Given the description of an element on the screen output the (x, y) to click on. 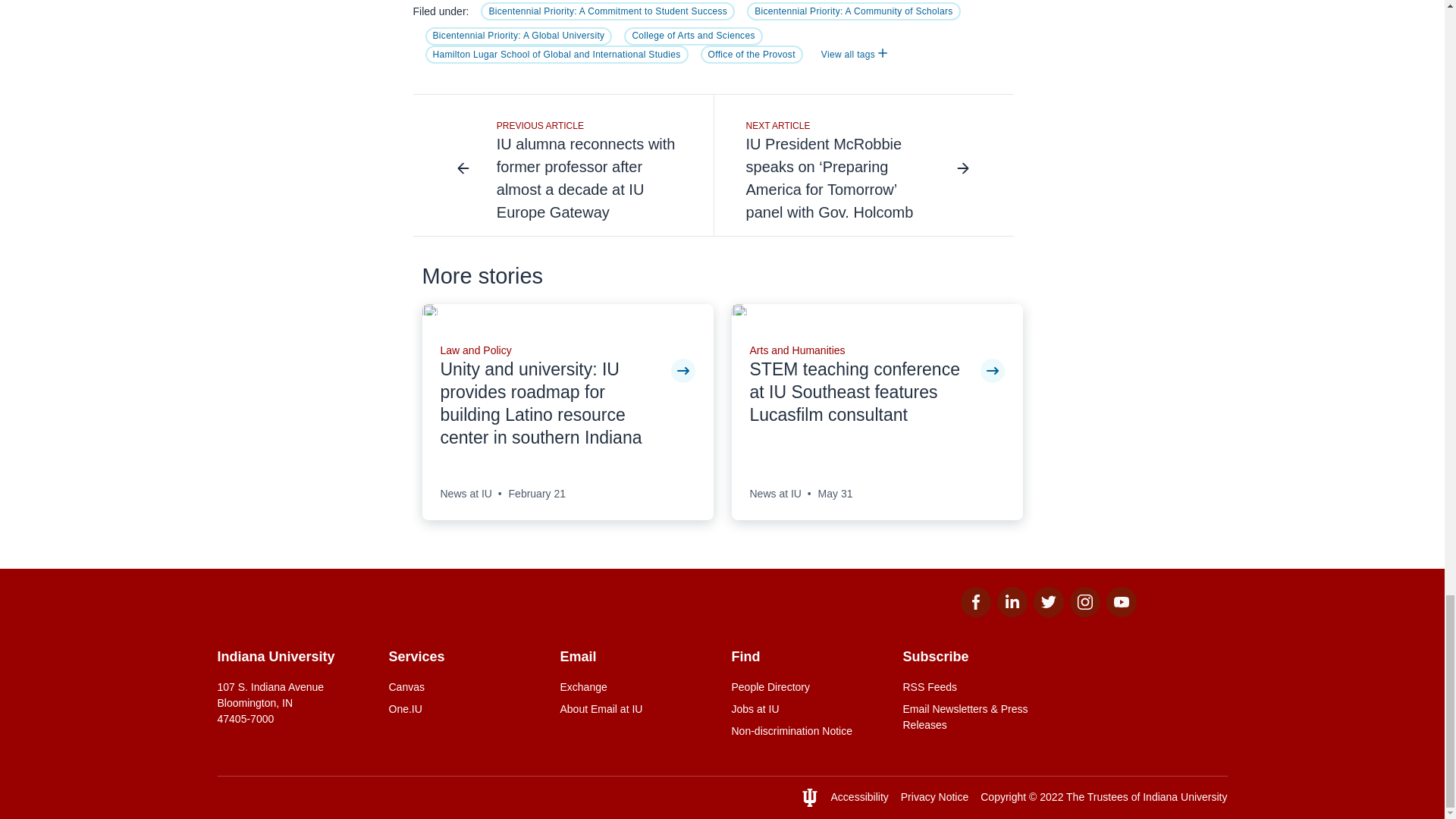
Linkedin for IU (1010, 612)
Youtube for IU (1120, 612)
View all tags Plus sign (854, 54)
About Email at IU (636, 709)
Plus sign (881, 52)
Office of the Provost (751, 54)
Bicentennial Priority: A Community of Scholars (853, 11)
Twitter for IU (1047, 612)
Canvas (464, 687)
College of Arts and Sciences (692, 36)
Hamilton Lugar School of Global and International Studies (556, 54)
Exchange (636, 687)
Bicentennial Priority: A Commitment to Student Success (607, 11)
